Given the description of an element on the screen output the (x, y) to click on. 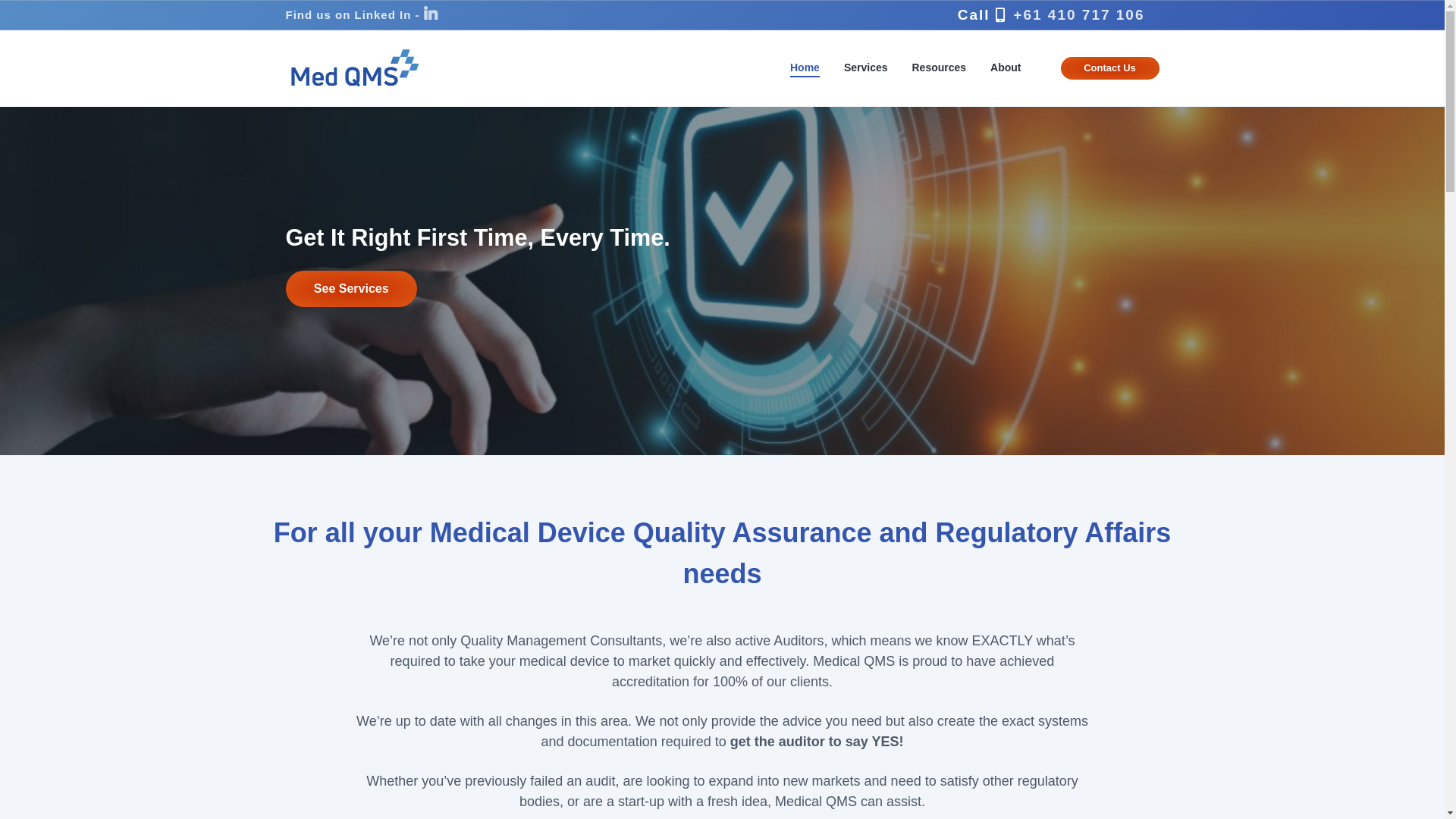
+61 410 717 106 Element type: text (1078, 15)
Contact Us Element type: text (1109, 68)
Skip to primary navigation Element type: text (0, 0)
Services Element type: text (866, 67)
About Element type: text (1005, 67)
Medical Devices QMS and Regulatory Affairs Melbourne Element type: text (290, 403)
Home Element type: text (804, 67)
See Services Element type: text (350, 288)
Resources Element type: text (938, 67)
